Given the description of an element on the screen output the (x, y) to click on. 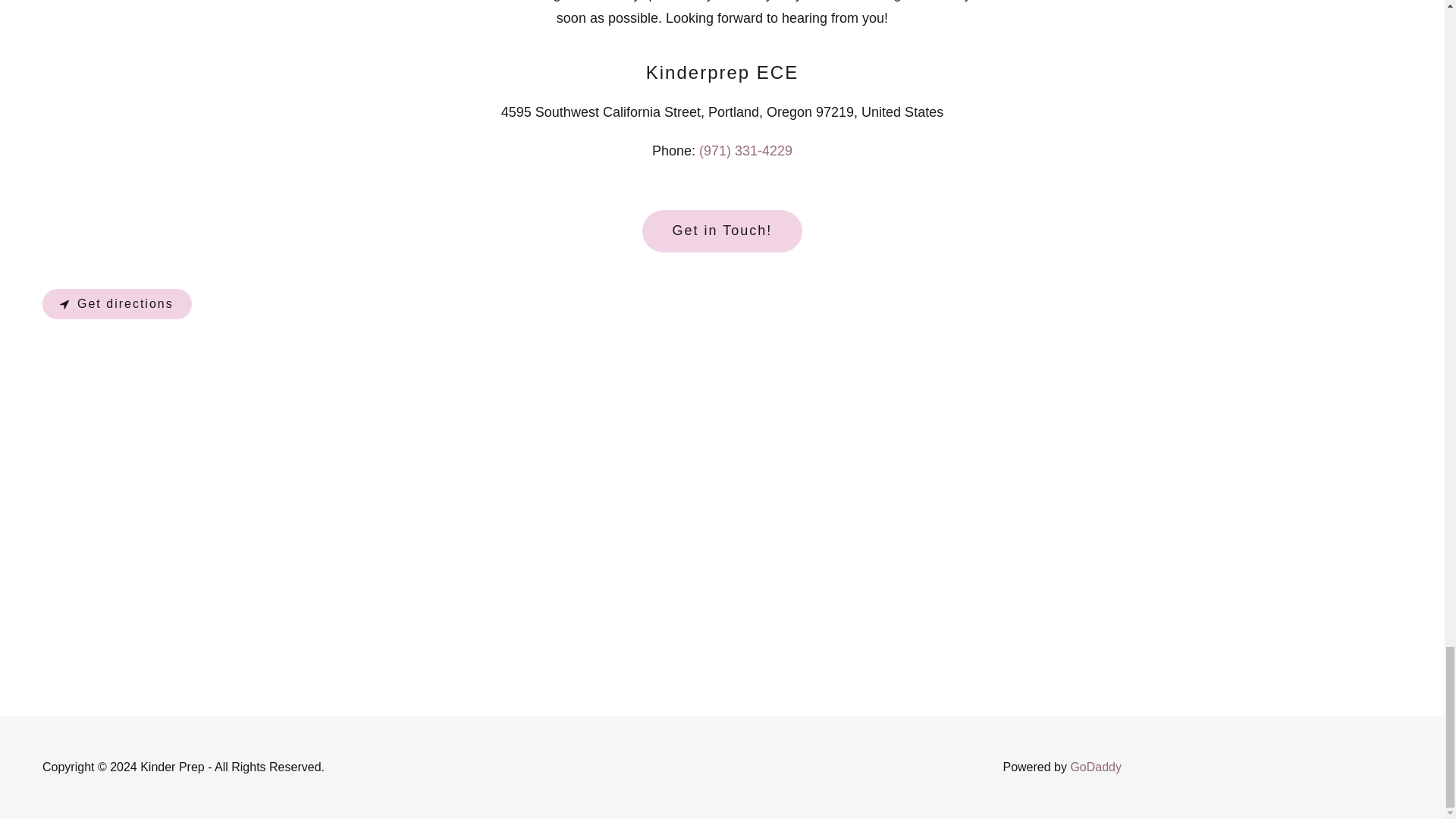
GoDaddy (1095, 766)
Get in Touch! (722, 230)
Get directions (117, 304)
